Given the description of an element on the screen output the (x, y) to click on. 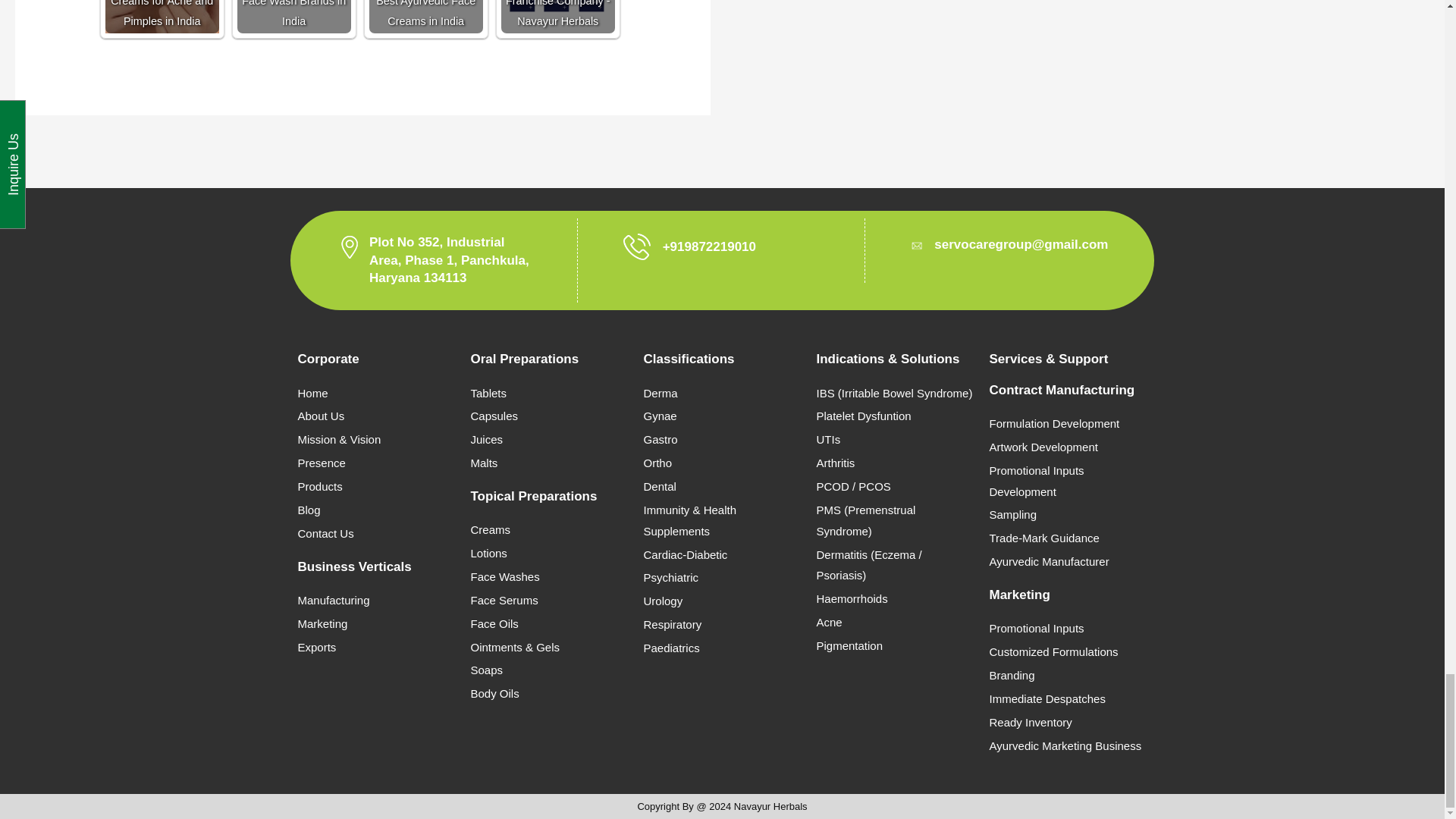
Ayurvedic PCD Franchise Company - Navayur Herbals (557, 16)
Best Ayurvedic Creams for Acne and Pimples in India (161, 16)
